Given the description of an element on the screen output the (x, y) to click on. 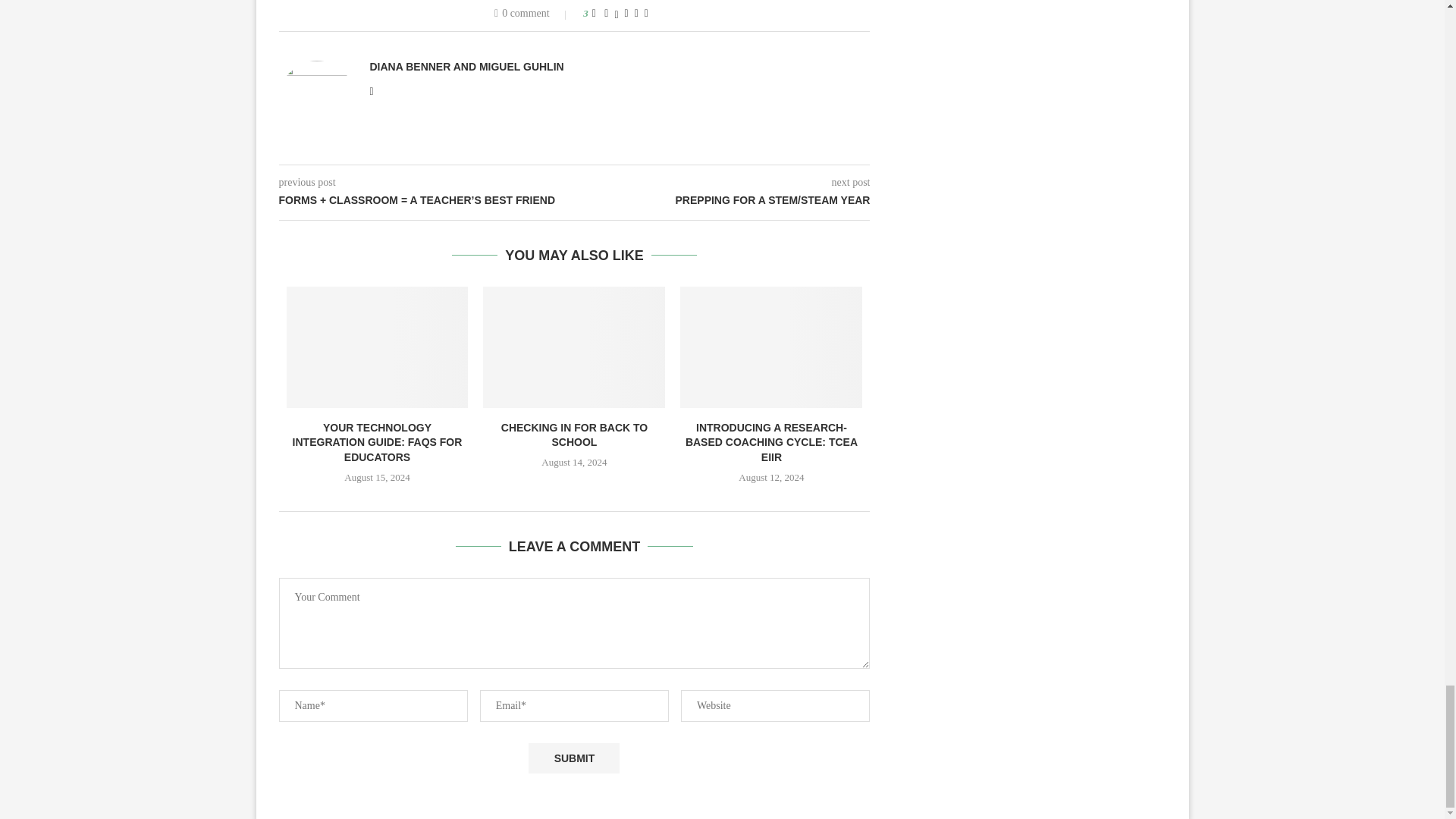
Submit (574, 757)
Checking In for Back to School (574, 346)
Author Diana Benner and Miguel Guhlin (466, 66)
Your Technology Integration Guide: FAQs for Educators (377, 346)
Introducing a Research-Based Coaching Cycle: TCEA EIIR (770, 346)
